Given the description of an element on the screen output the (x, y) to click on. 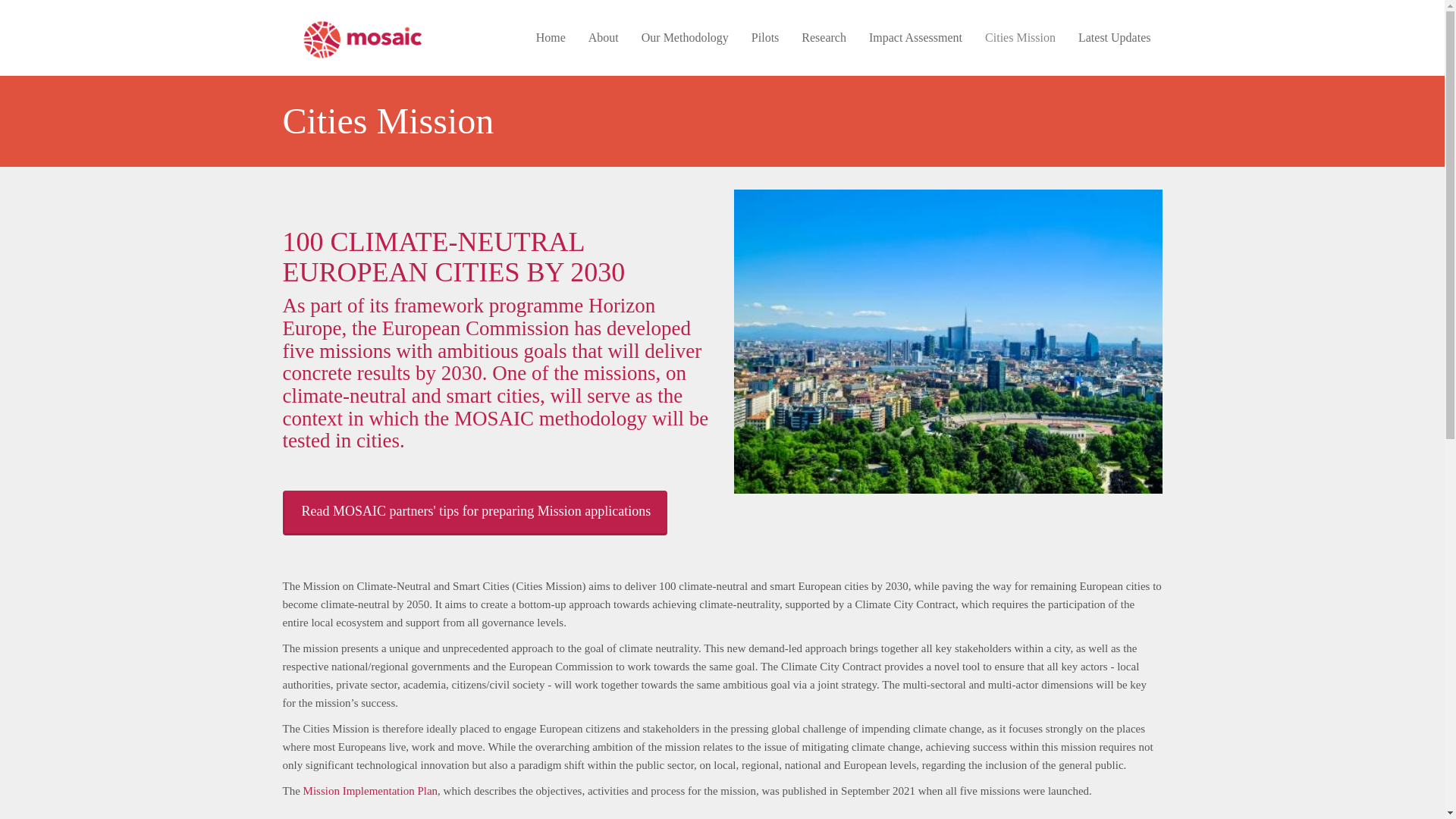
Research (823, 38)
Our Methodology (684, 38)
Cities Mission (1020, 38)
Home (369, 38)
Latest Updates (1114, 38)
Mission Implementation Plan (370, 790)
Impact Assessment (915, 38)
Research (823, 38)
